Given the description of an element on the screen output the (x, y) to click on. 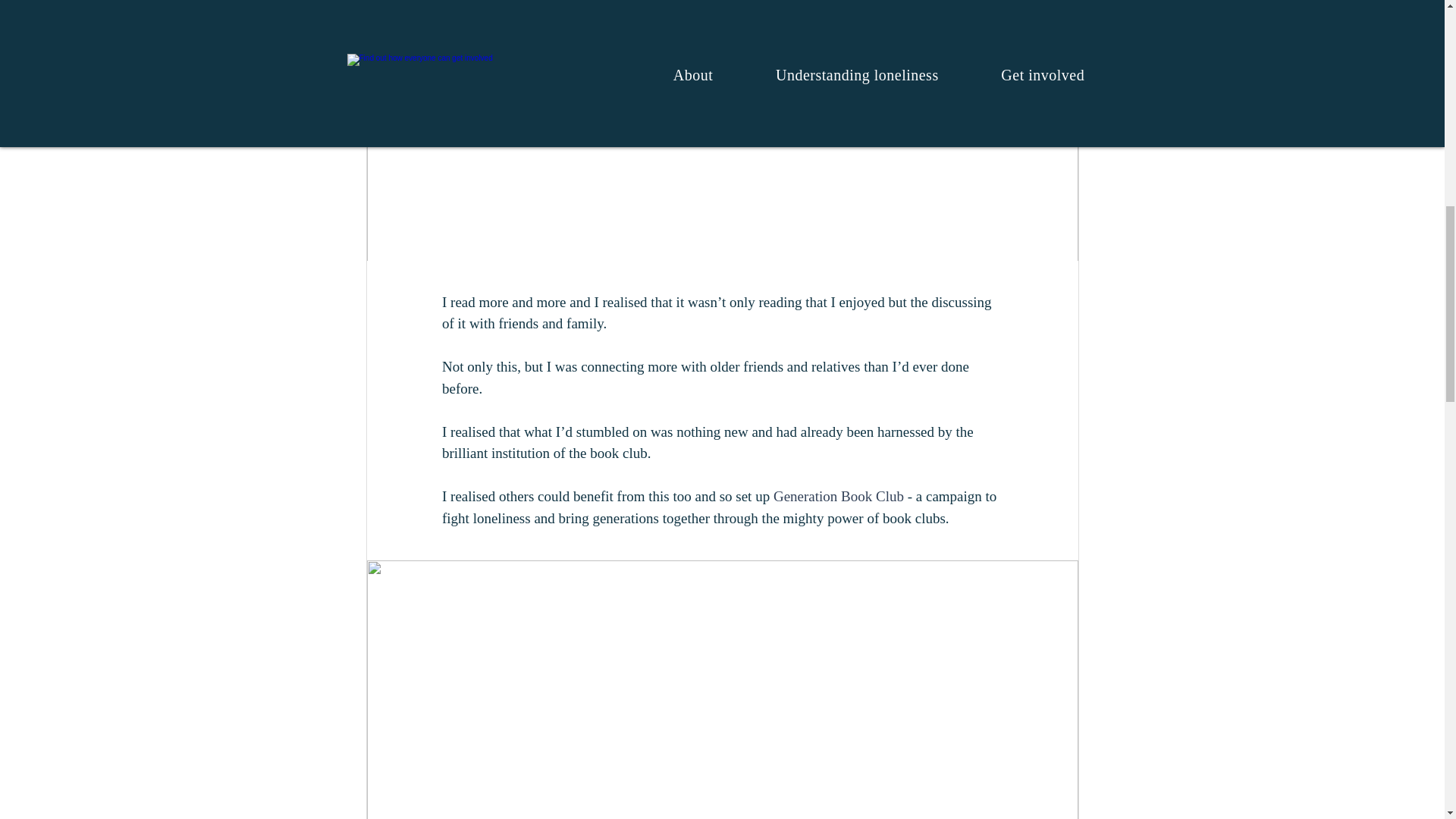
Generation Book Club (837, 496)
